Given the description of an element on the screen output the (x, y) to click on. 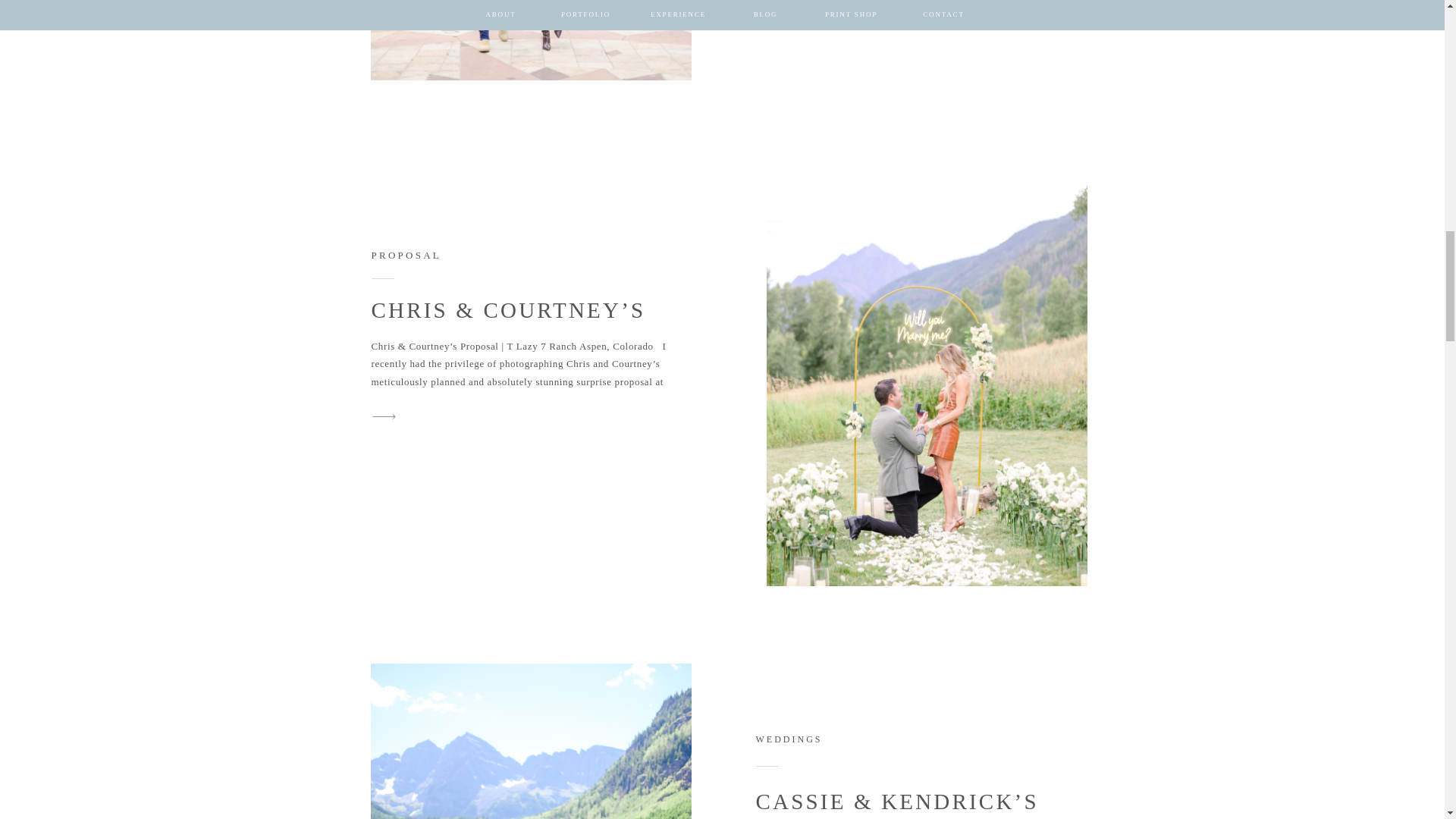
arrow (383, 416)
